Given the description of an element on the screen output the (x, y) to click on. 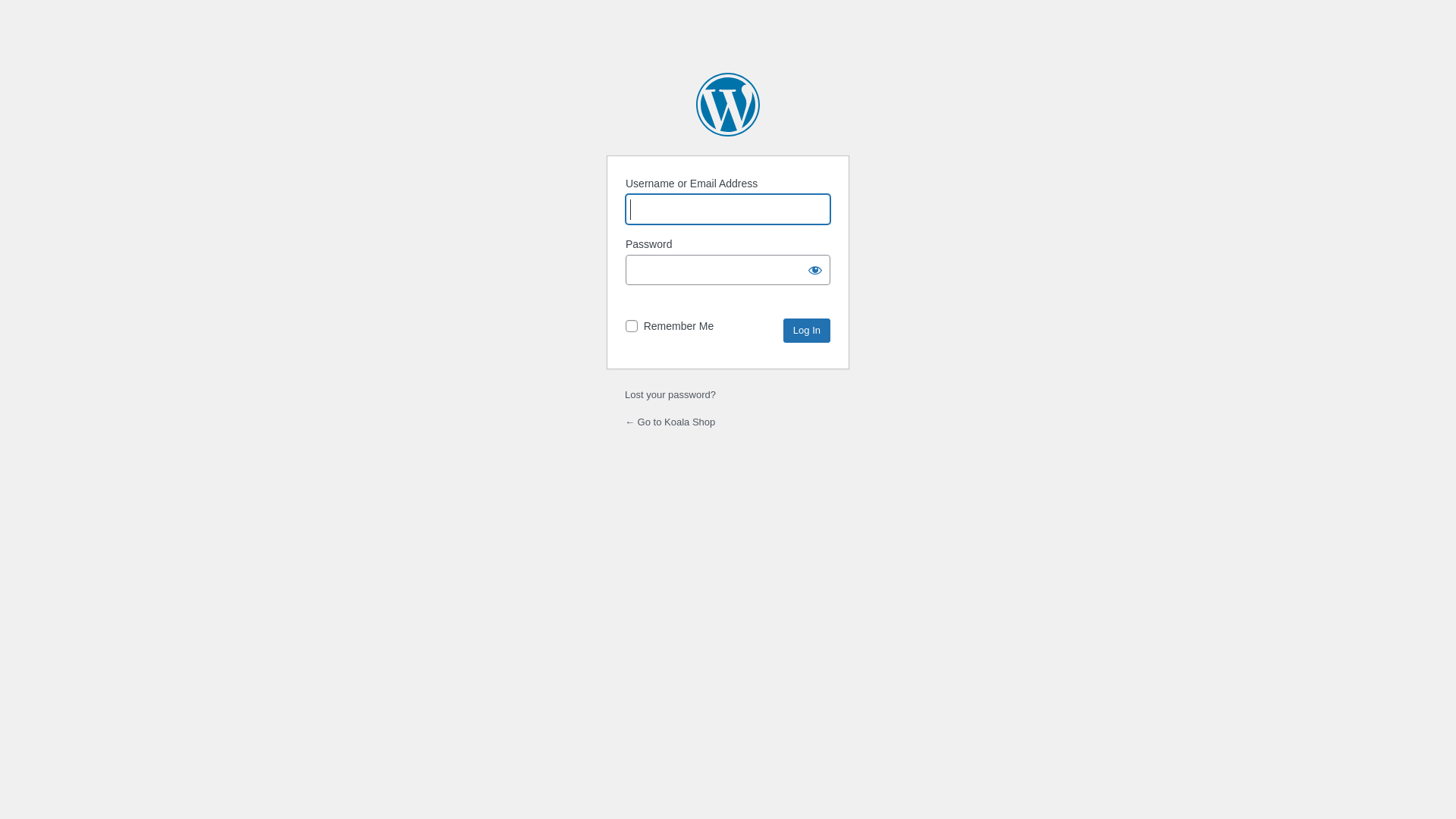
Log In Element type: text (806, 330)
Lost your password? Element type: text (669, 394)
Powered by WordPress Element type: text (727, 104)
